Given the description of an element on the screen output the (x, y) to click on. 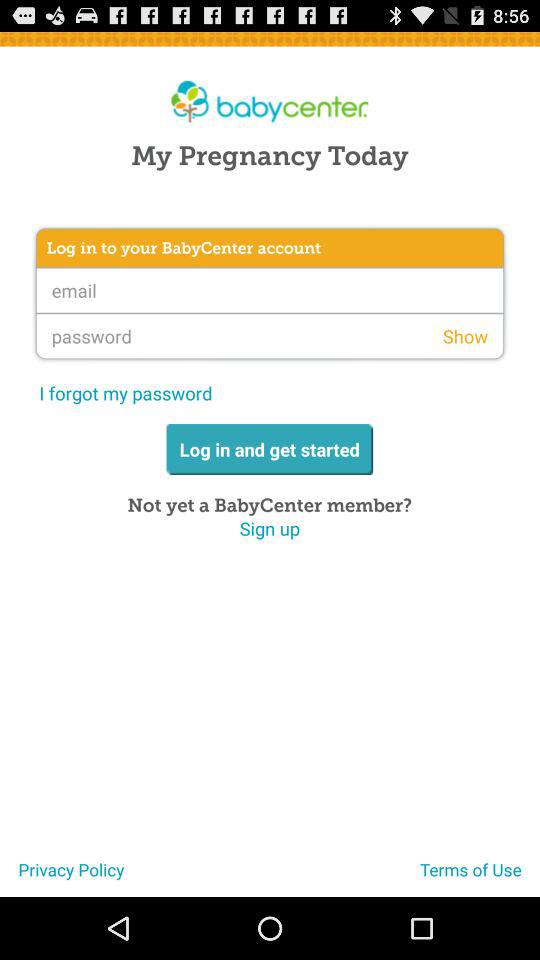
choose the icon at the bottom left corner (62, 877)
